Given the description of an element on the screen output the (x, y) to click on. 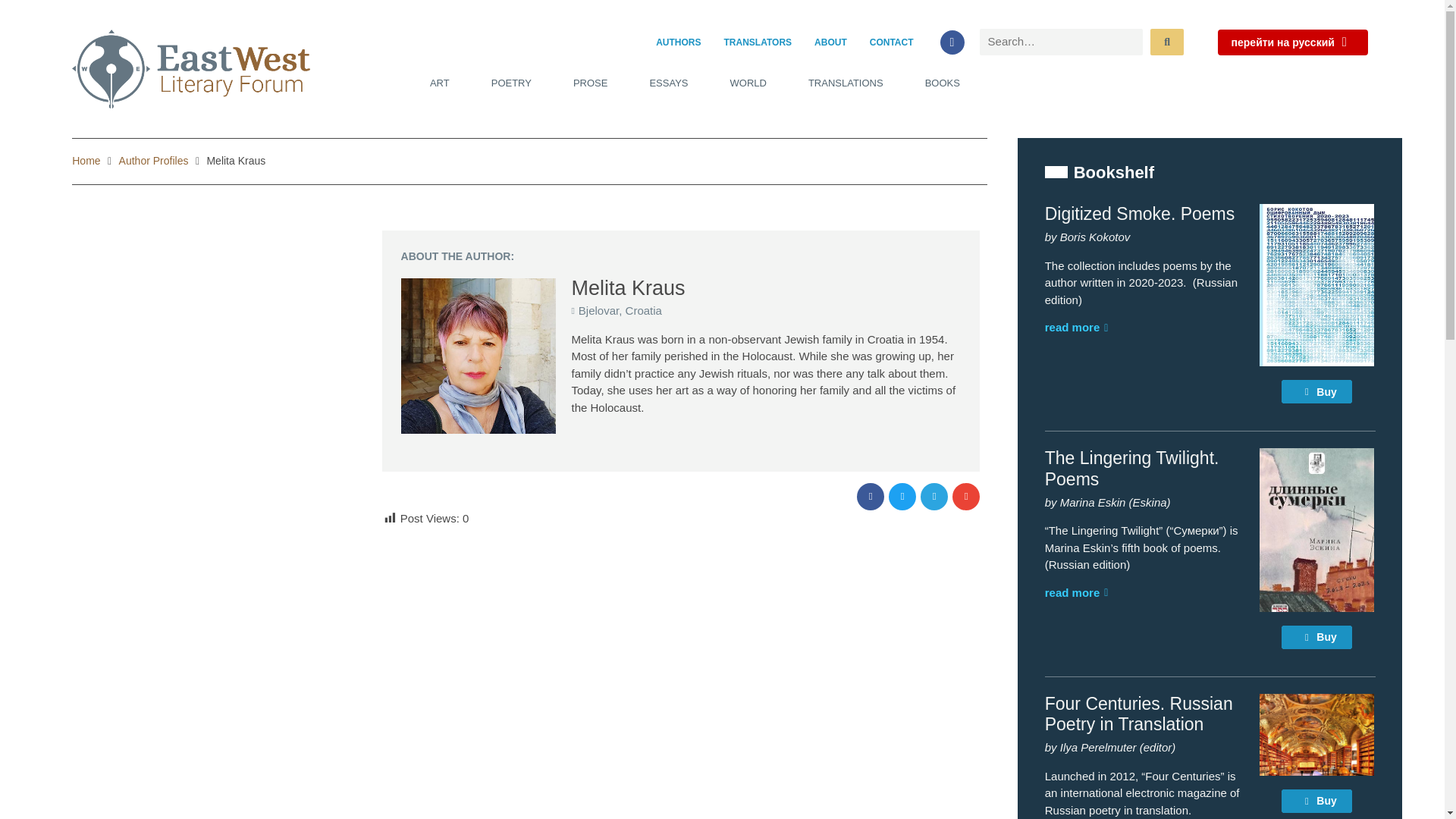
ABOUT (831, 42)
POETRY (511, 83)
CONTACT (891, 42)
TRANSLATIONS (845, 83)
ESSAYS (668, 83)
WORLD (748, 83)
AUTHORS (678, 42)
Home (85, 160)
TRANSLATORS (758, 42)
Author Profiles (154, 160)
